Given the description of an element on the screen output the (x, y) to click on. 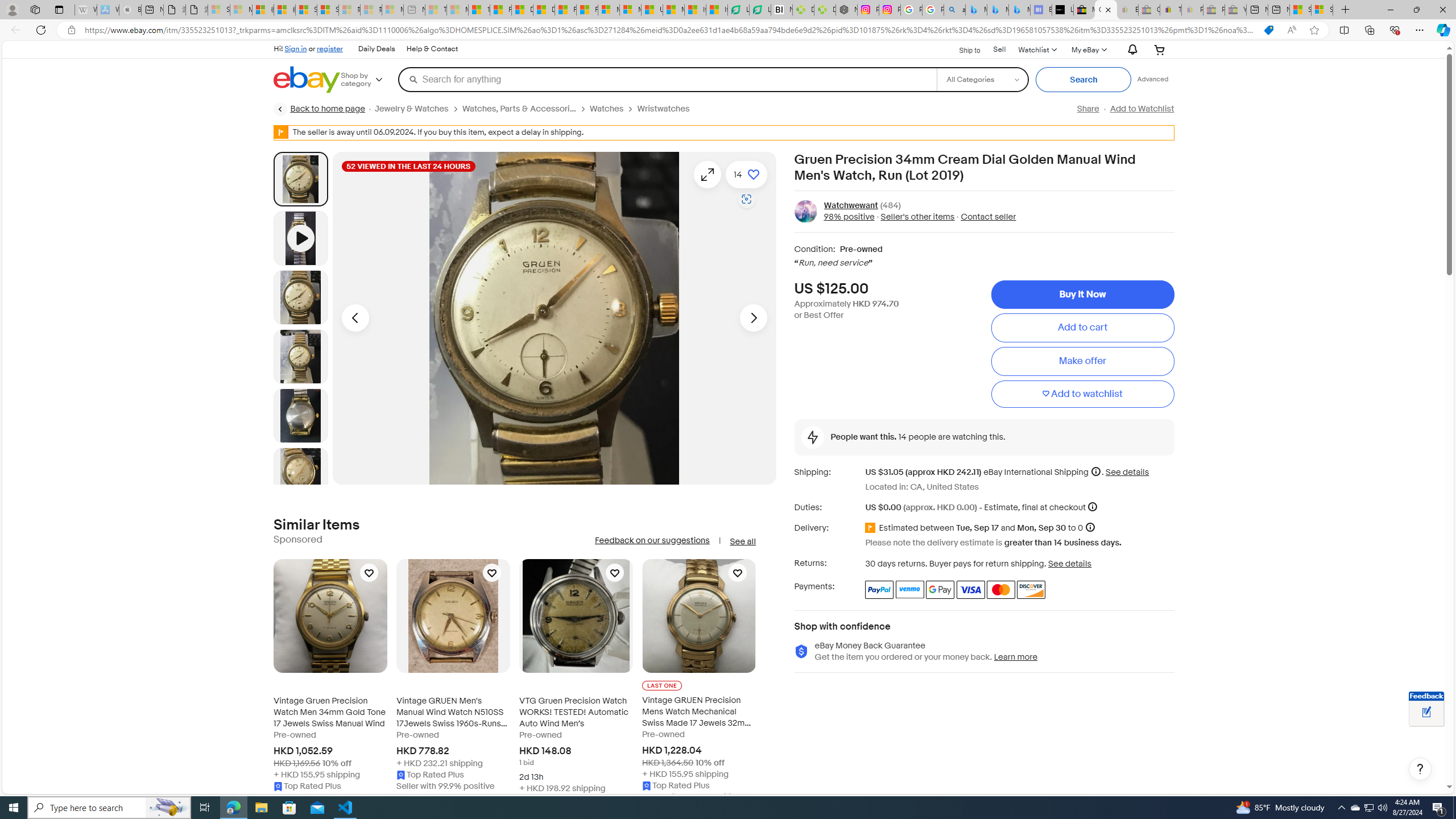
My eBay (1088, 49)
Expand Cart (1159, 49)
Press Room - eBay Inc. - Sleeping (1214, 9)
Payments Terms of Use | eBay.com - Sleeping (1192, 9)
Picture 5 of 13 (300, 474)
Ship to (962, 50)
Visa (970, 588)
Opens image gallery (708, 174)
Master Card (999, 588)
See details for shipping (1126, 472)
